Given the description of an element on the screen output the (x, y) to click on. 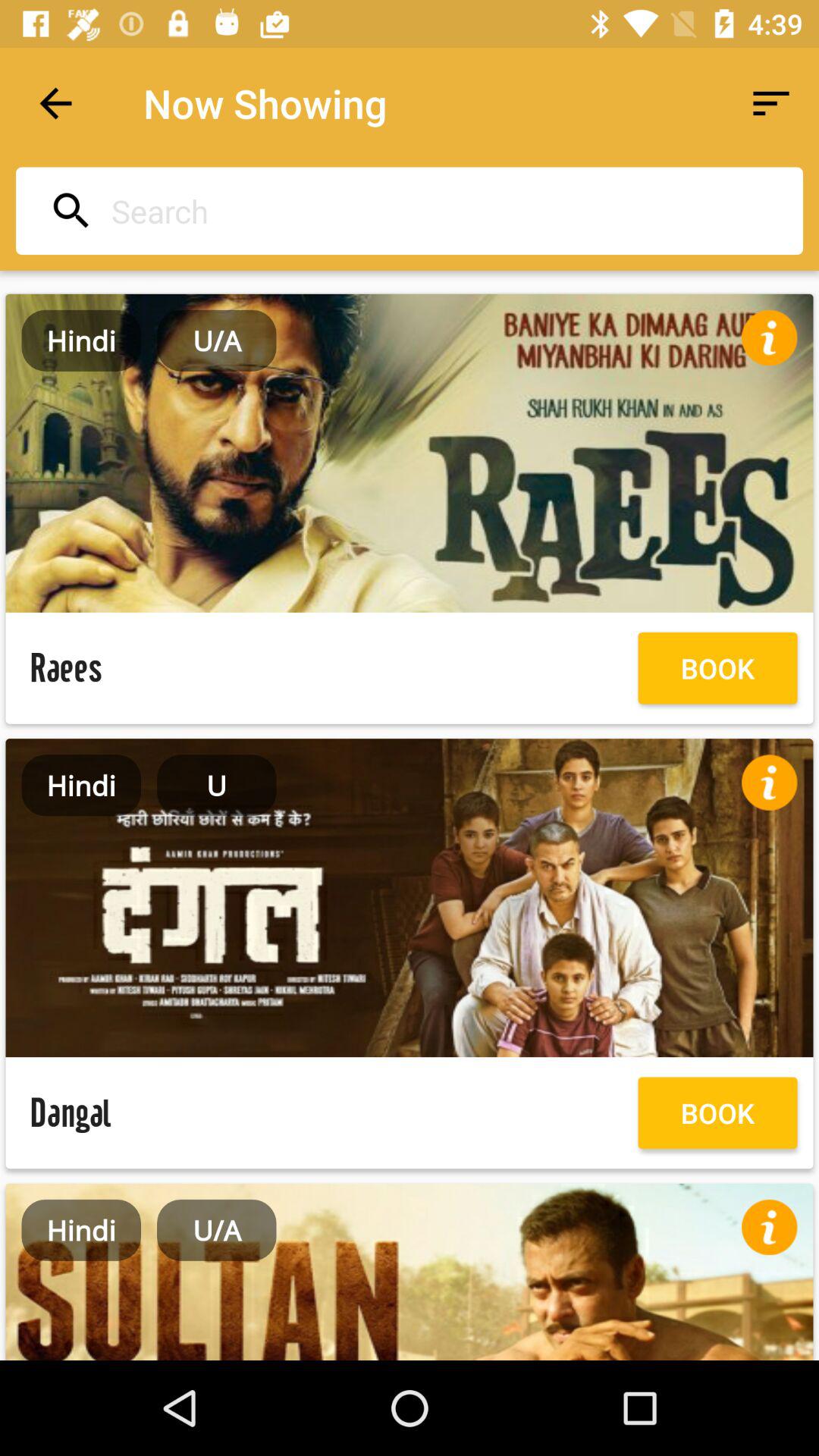
more info (769, 1227)
